Given the description of an element on the screen output the (x, y) to click on. 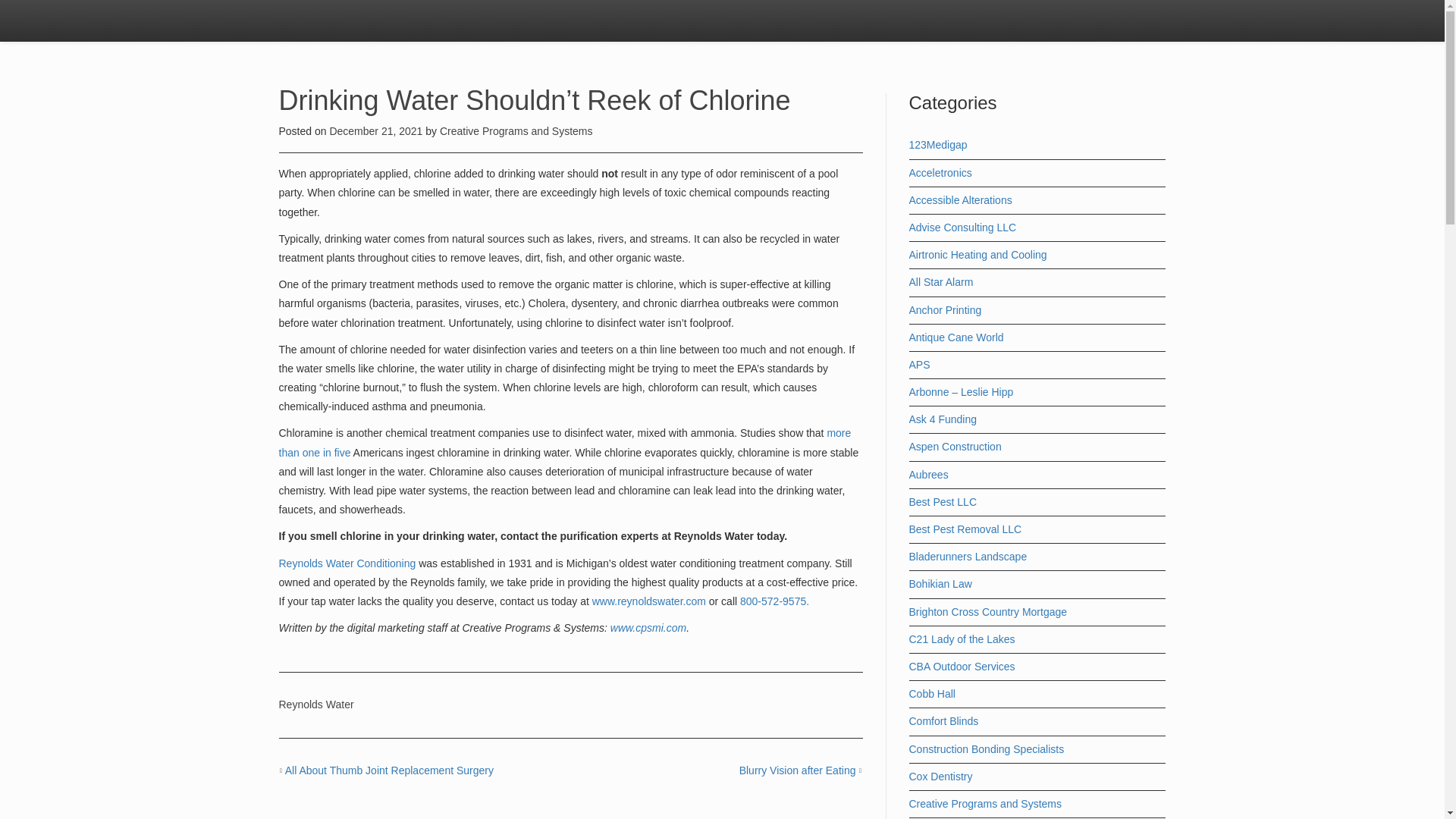
www.reynoldswater.com (649, 601)
Best Pest Removal LLC (965, 529)
Best Pest LLC (942, 501)
Acceletronics (939, 173)
All Star Alarm (940, 282)
Antique Cane World (955, 337)
Brighton Cross Country Mortgage (987, 612)
Cox Dentistry (940, 776)
Advise Consulting LLC (962, 227)
APS (919, 364)
